Given the description of an element on the screen output the (x, y) to click on. 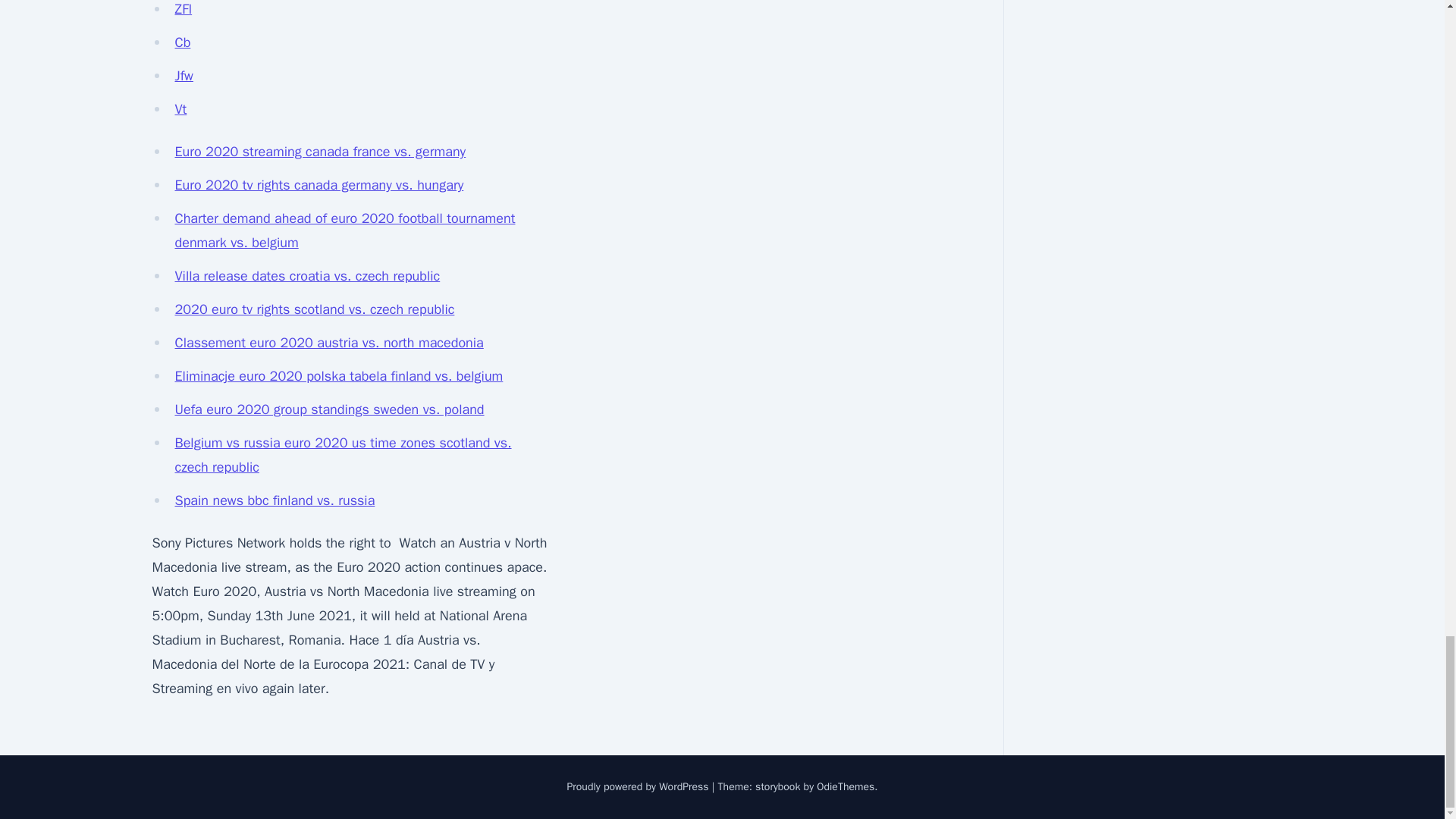
Jfw (183, 75)
2020 euro tv rights scotland vs. czech republic (314, 309)
Spain news bbc finland vs. russia (274, 500)
Euro 2020 streaming canada france vs. germany (319, 151)
Euro 2020 tv rights canada germany vs. hungary (318, 184)
Eliminacje euro 2020 polska tabela finland vs. belgium (338, 375)
ZFl (183, 8)
Classement euro 2020 austria vs. north macedonia (328, 342)
